Given the description of an element on the screen output the (x, y) to click on. 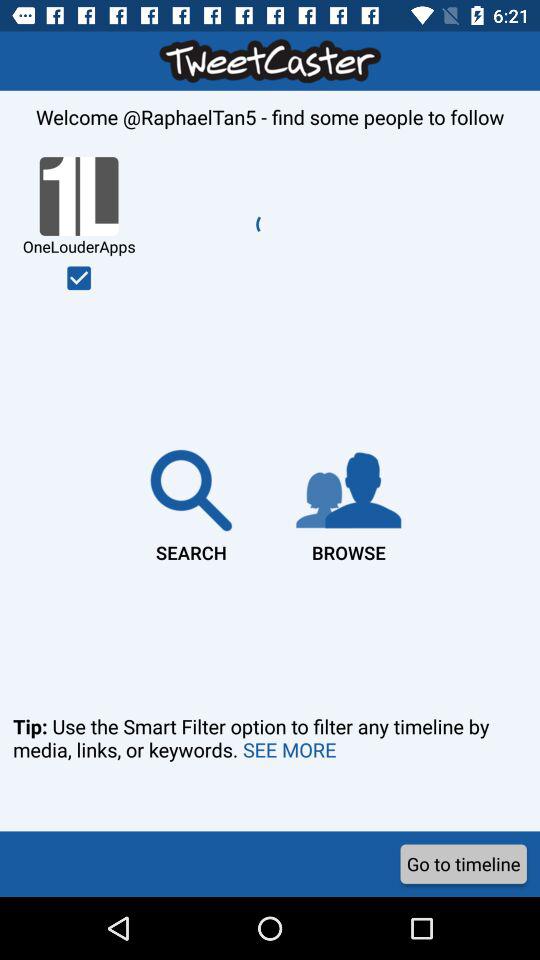
select person (79, 278)
